Given the description of an element on the screen output the (x, y) to click on. 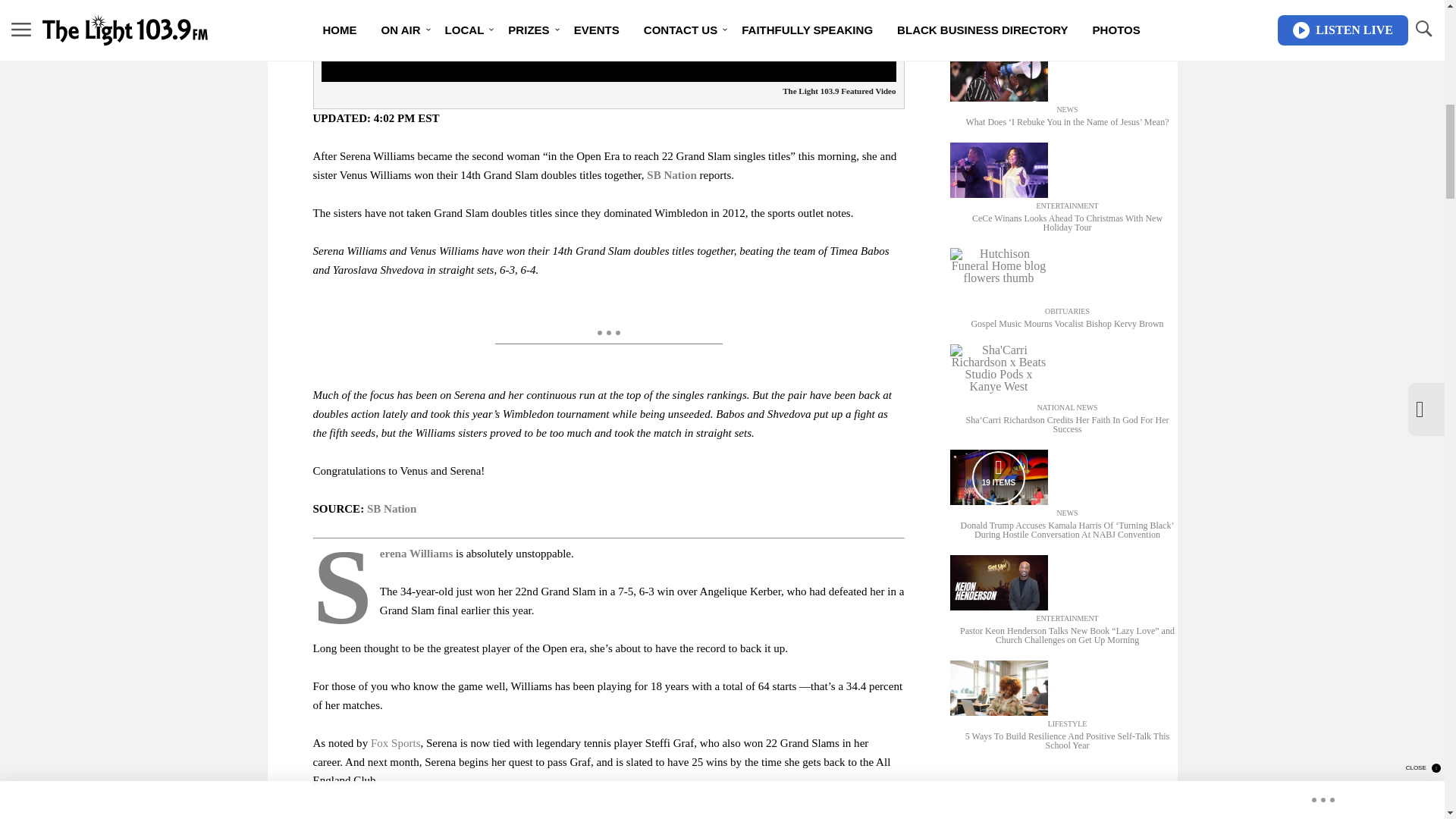
SB Nation (671, 174)
Fox Sports (395, 743)
Media Playlist (416, 553)
SB Nation (998, 477)
